Given the description of an element on the screen output the (x, y) to click on. 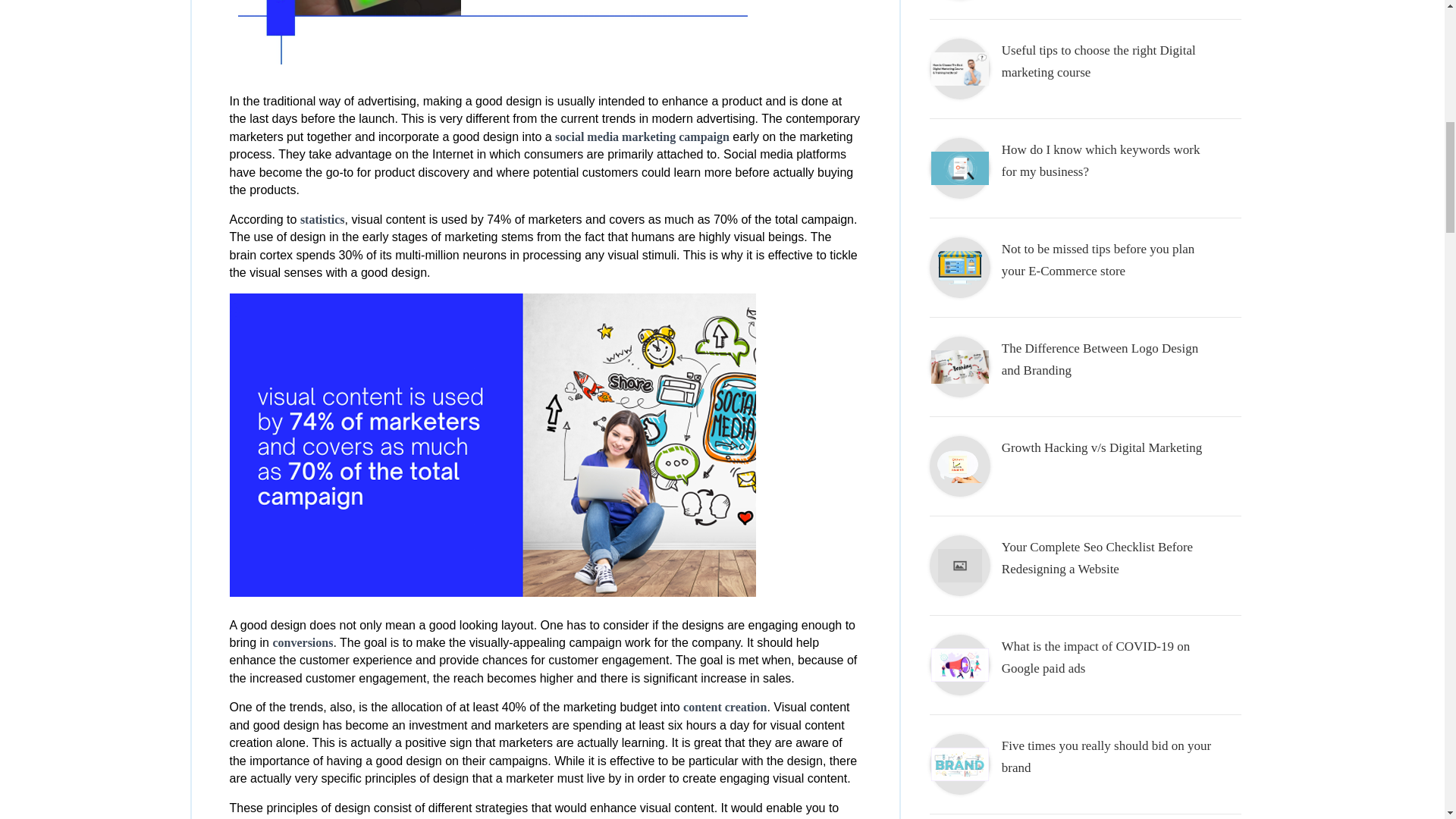
statistics (322, 219)
conversions (302, 642)
social media marketing campaign (641, 136)
